Given the description of an element on the screen output the (x, y) to click on. 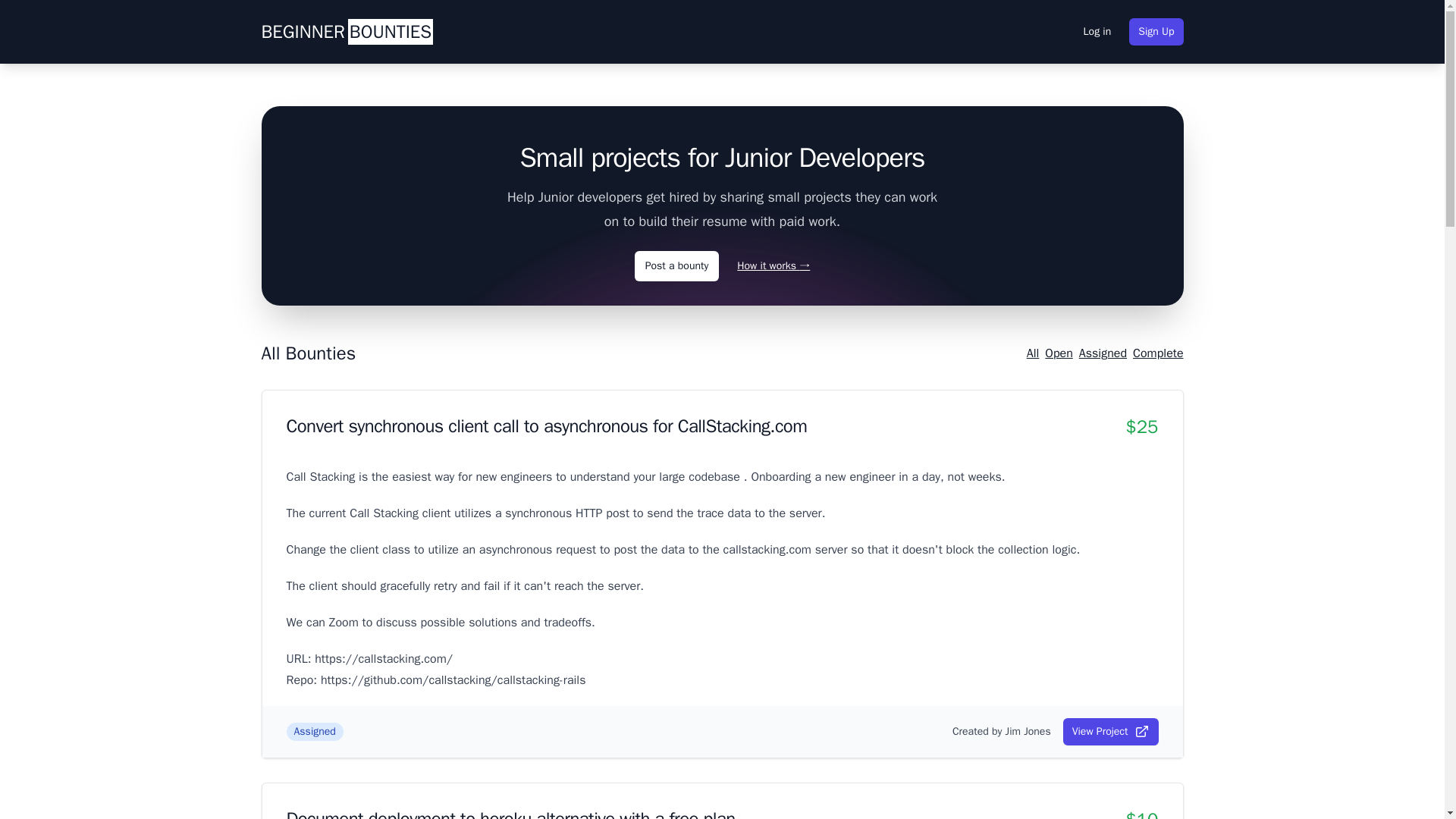
BEGINNERBOUNTIES (346, 31)
Assigned (1102, 353)
Open (1058, 353)
Complete (1157, 353)
Post a bounty (676, 265)
Log in (1097, 31)
View Project (1110, 731)
Document deployment to heroku alternative with a free plan (510, 813)
Sign Up (1155, 31)
